Given the description of an element on the screen output the (x, y) to click on. 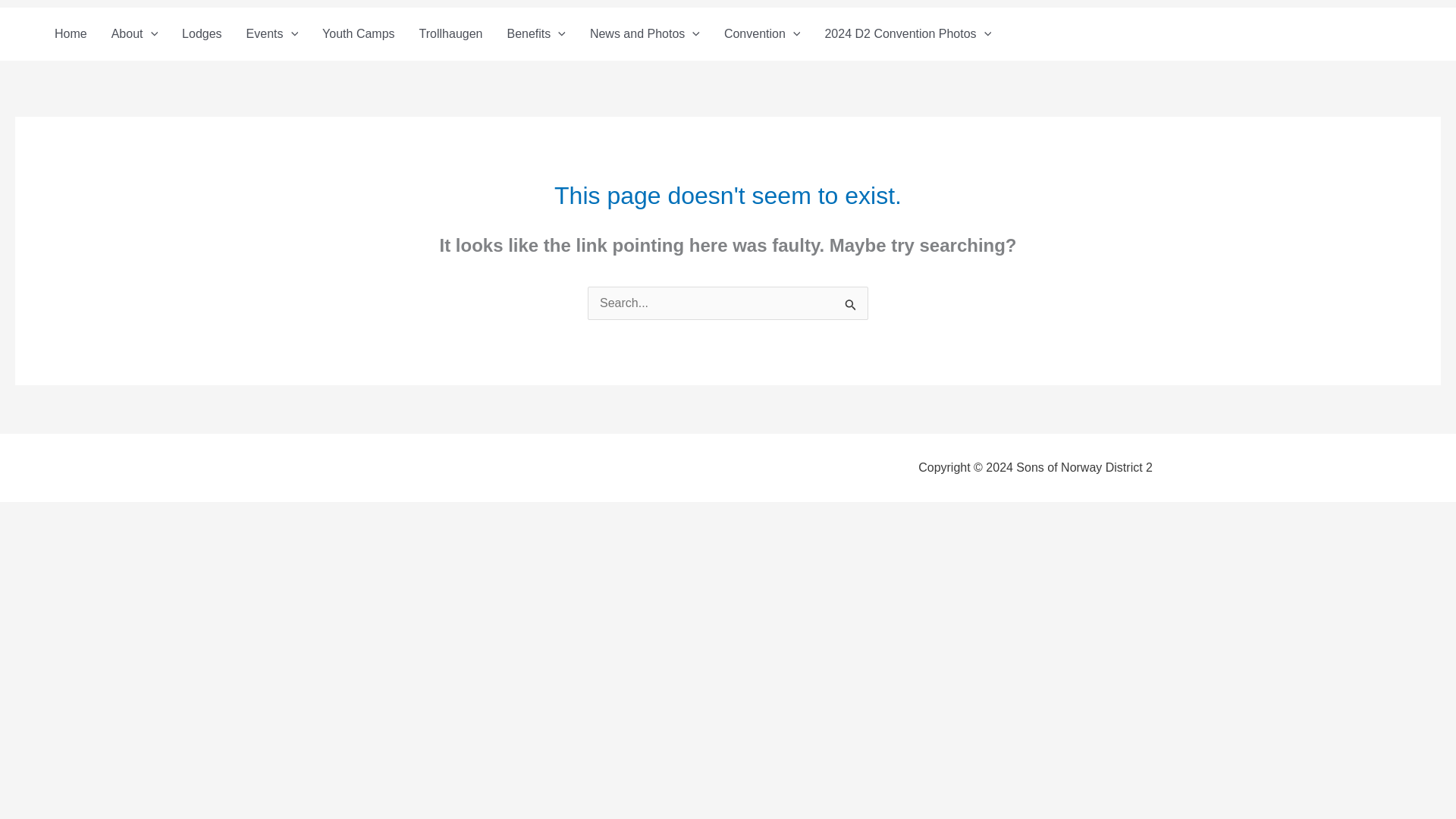
Youth Camps (358, 33)
Benefits (535, 33)
Convention (761, 33)
Lodges (202, 33)
News and Photos (644, 33)
Trollhaugen (451, 33)
About (134, 33)
Home (70, 33)
Events (272, 33)
